Given the description of an element on the screen output the (x, y) to click on. 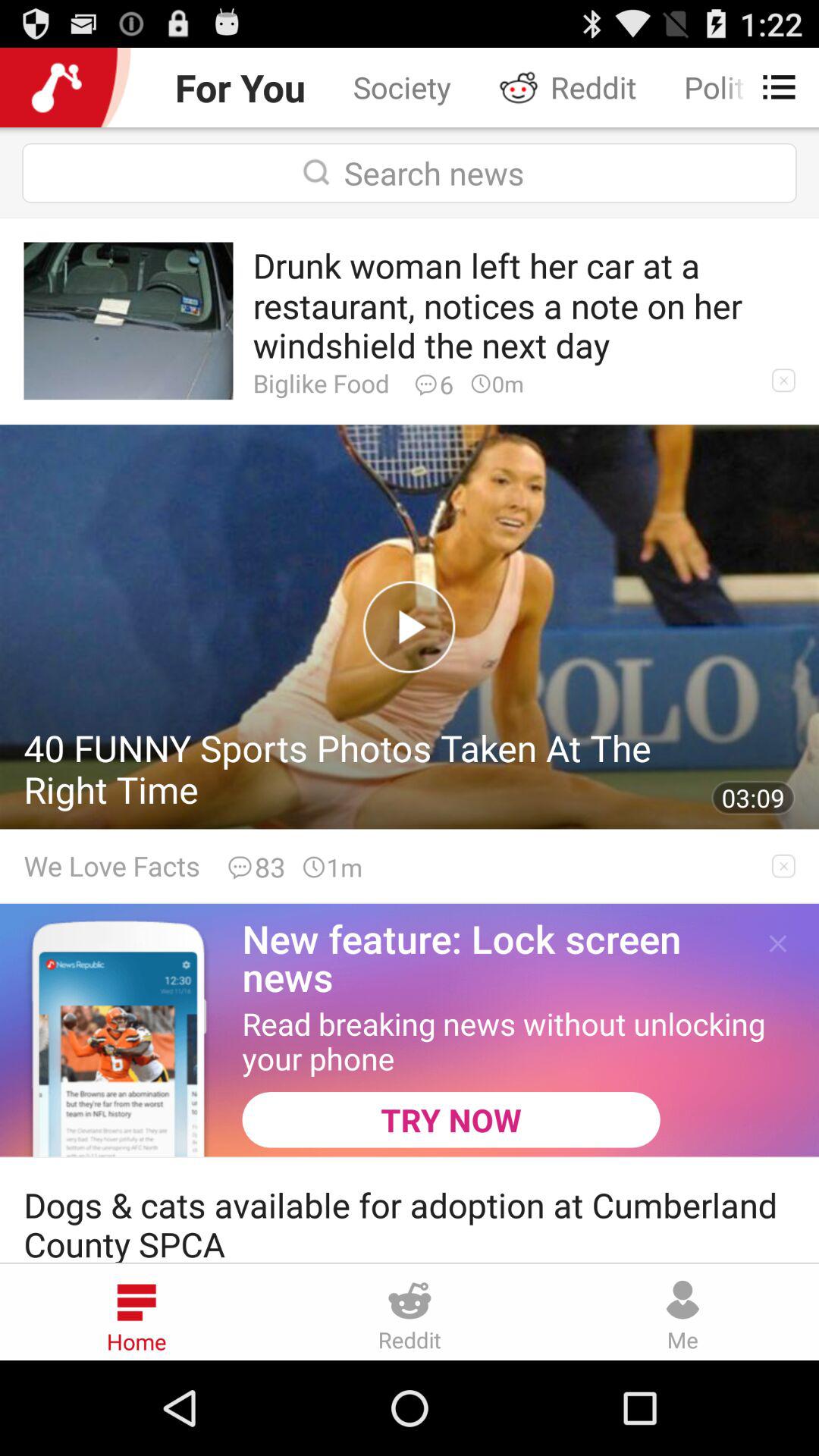
select app to the left of the reddit item (401, 87)
